Given the description of an element on the screen output the (x, y) to click on. 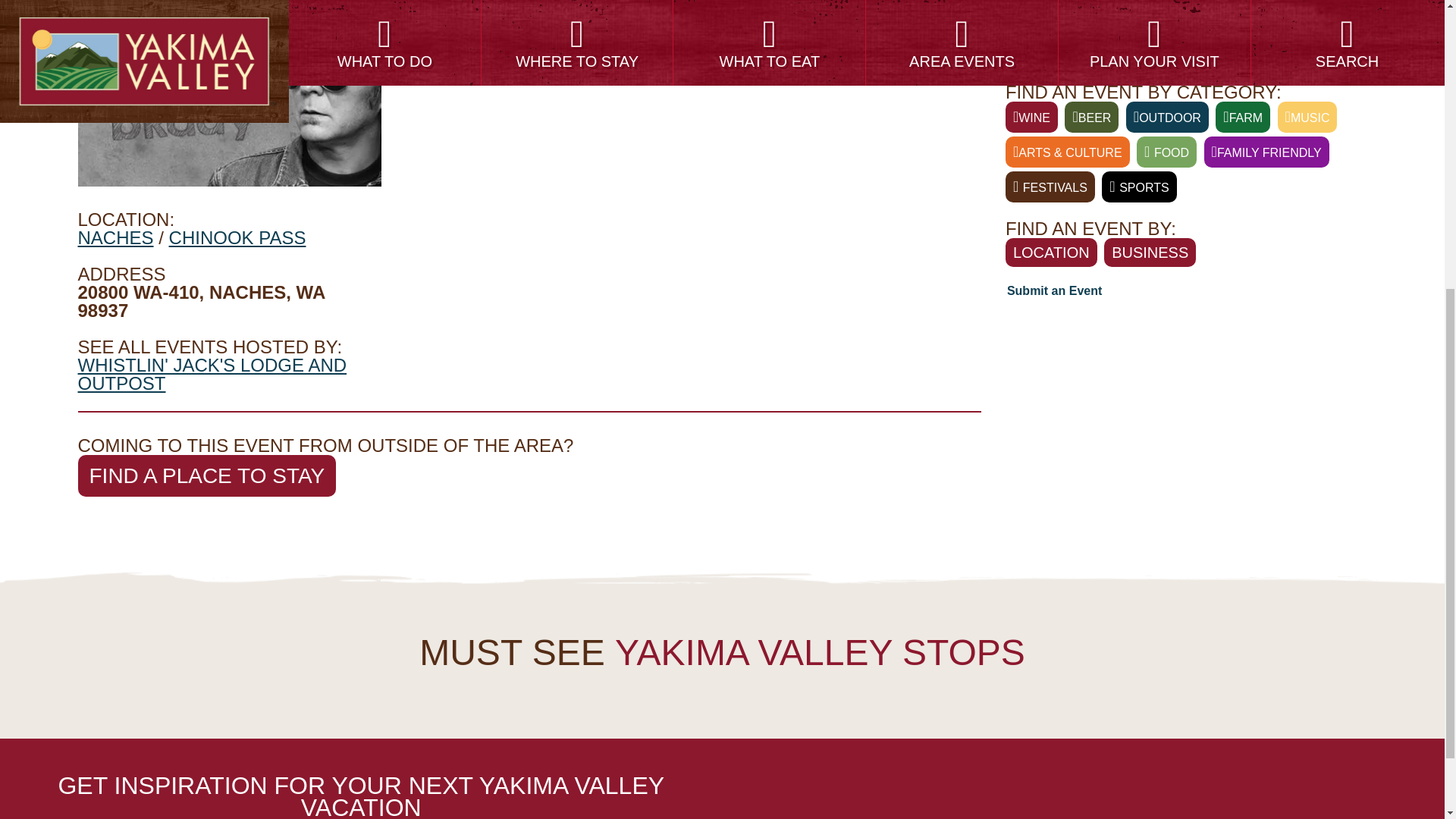
Find Yakima Valley Events by Location (1091, 116)
FIND A PLACE TO STAY (206, 475)
OUTDOOR (1166, 116)
FARM (1242, 116)
NACHES (114, 237)
Events in Chinook Pass (236, 237)
Whistlin' Jack's Lodge and Outpost (211, 373)
FESTIVALS (1050, 186)
CHINOOK PASS (236, 237)
Events in Naches (114, 237)
